Given the description of an element on the screen output the (x, y) to click on. 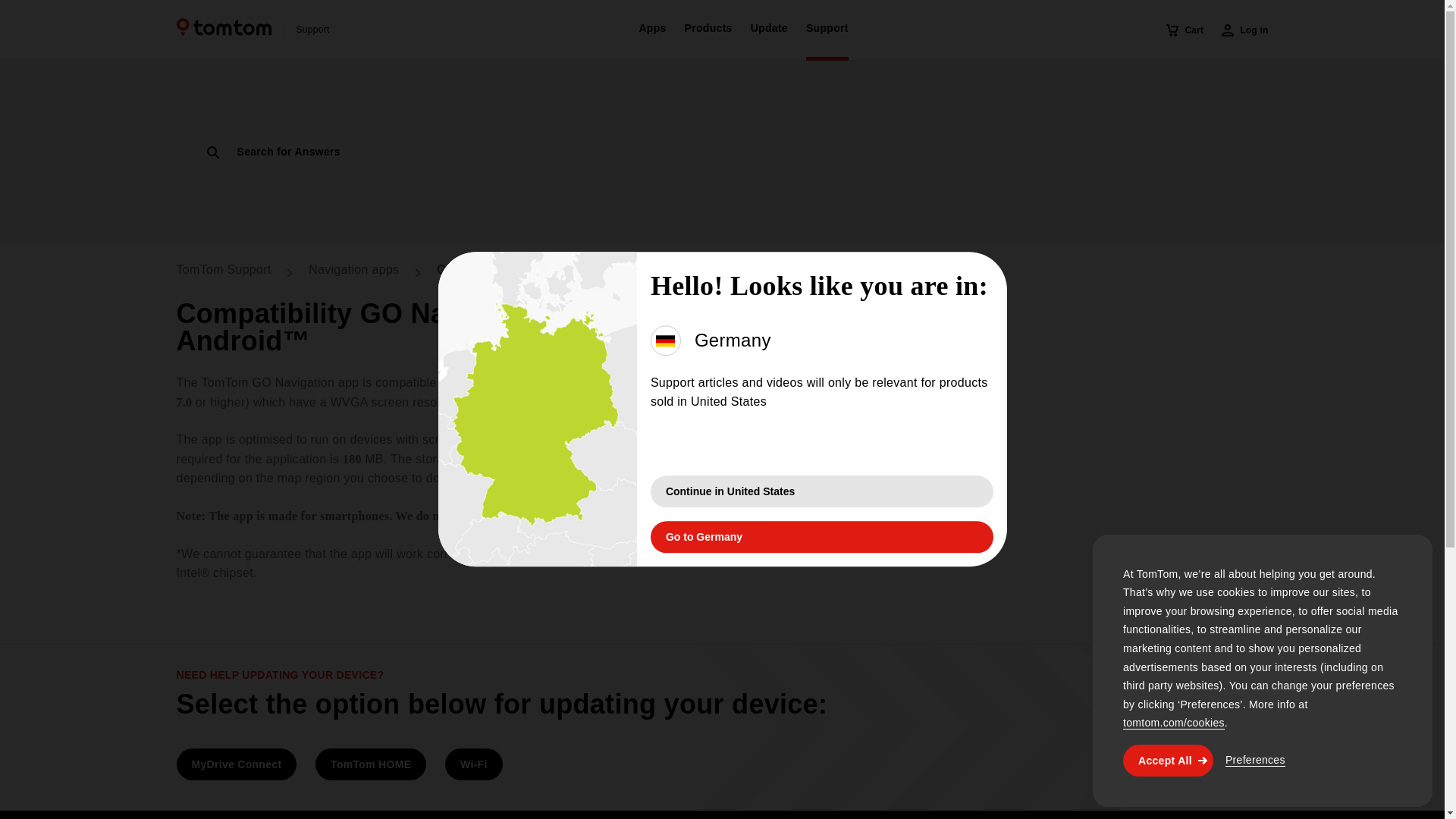
User Profile (1244, 30)
GO Navigation App (477, 272)
Cart (1185, 30)
Basket (1185, 30)
TomTom Support (225, 272)
Navigation apps (339, 272)
